Given the description of an element on the screen output the (x, y) to click on. 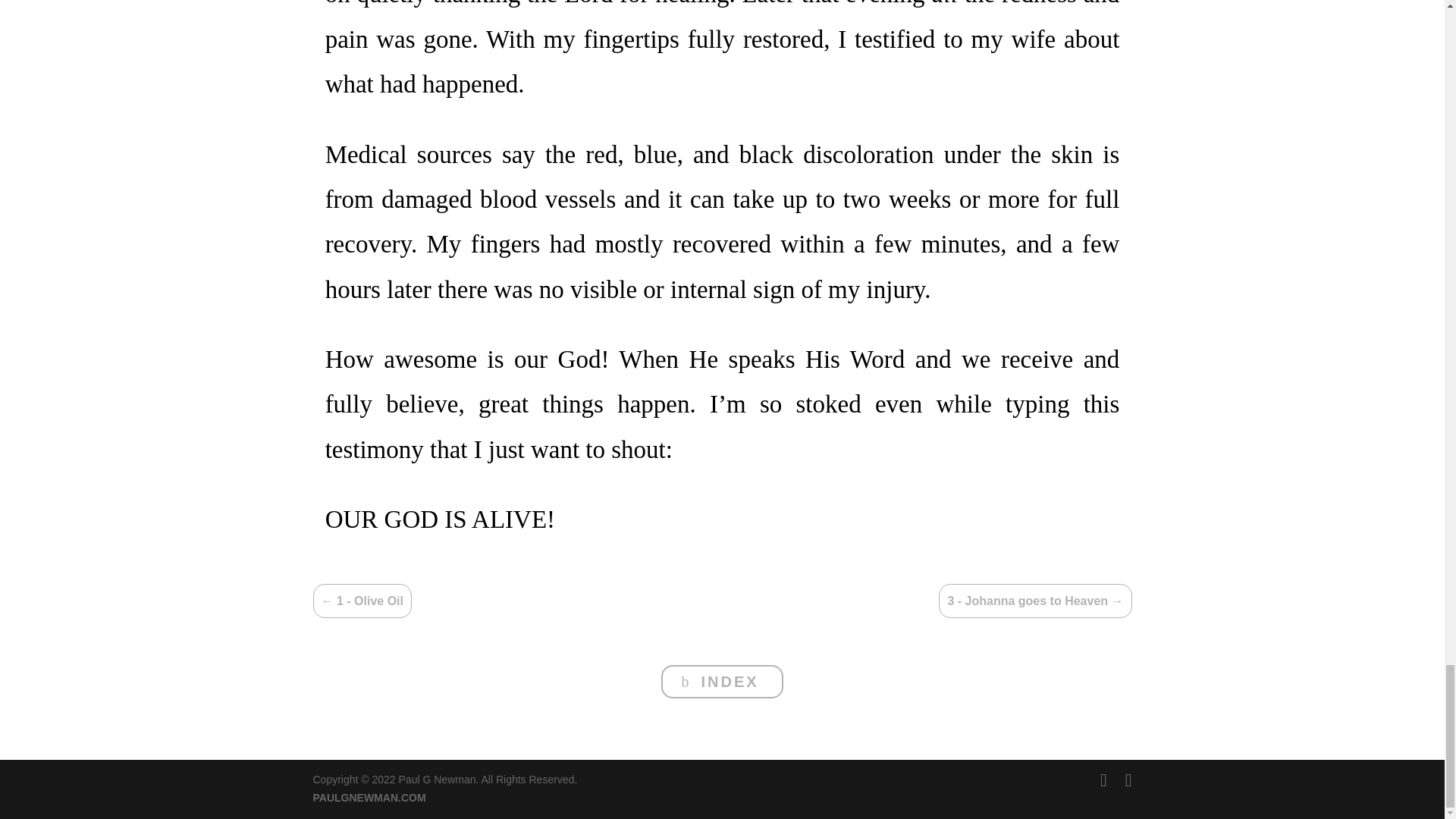
PAULGNEWMAN.COM (369, 797)
INDEX (722, 681)
